Given the description of an element on the screen output the (x, y) to click on. 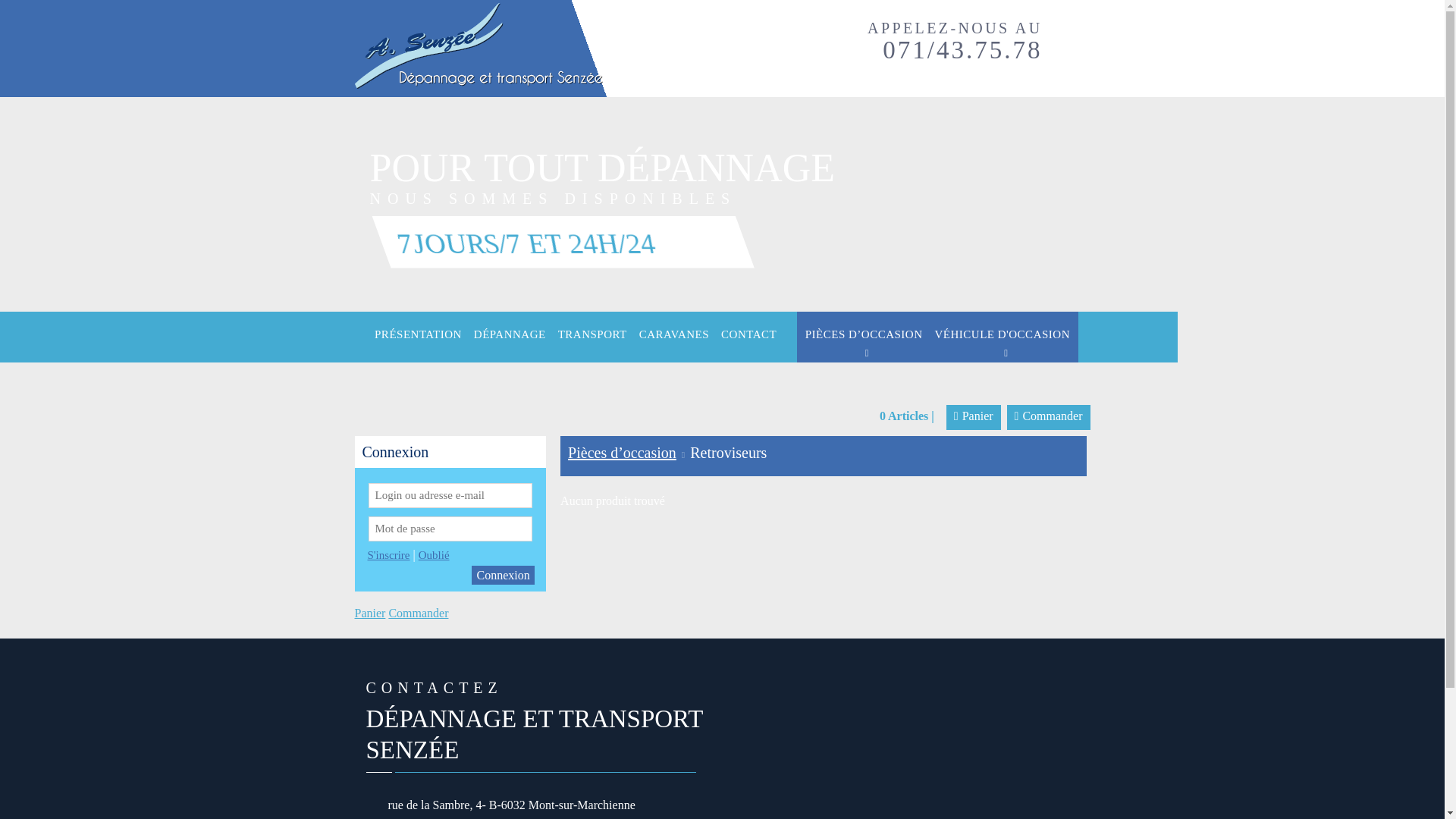
TRANSPORT Element type: text (592, 334)
Panier Element type: text (973, 416)
Commander Element type: text (418, 612)
S'inscrire Element type: text (388, 555)
Mot de passe Element type: hover (450, 528)
Panier Element type: text (369, 612)
071/43.75.78 Element type: text (961, 49)
Connexion Element type: text (502, 574)
CONTACT Element type: text (748, 334)
Login ou adresse e-mail Element type: hover (450, 495)
Commander Element type: text (1048, 416)
CARAVANES Element type: text (674, 334)
